Given the description of an element on the screen output the (x, y) to click on. 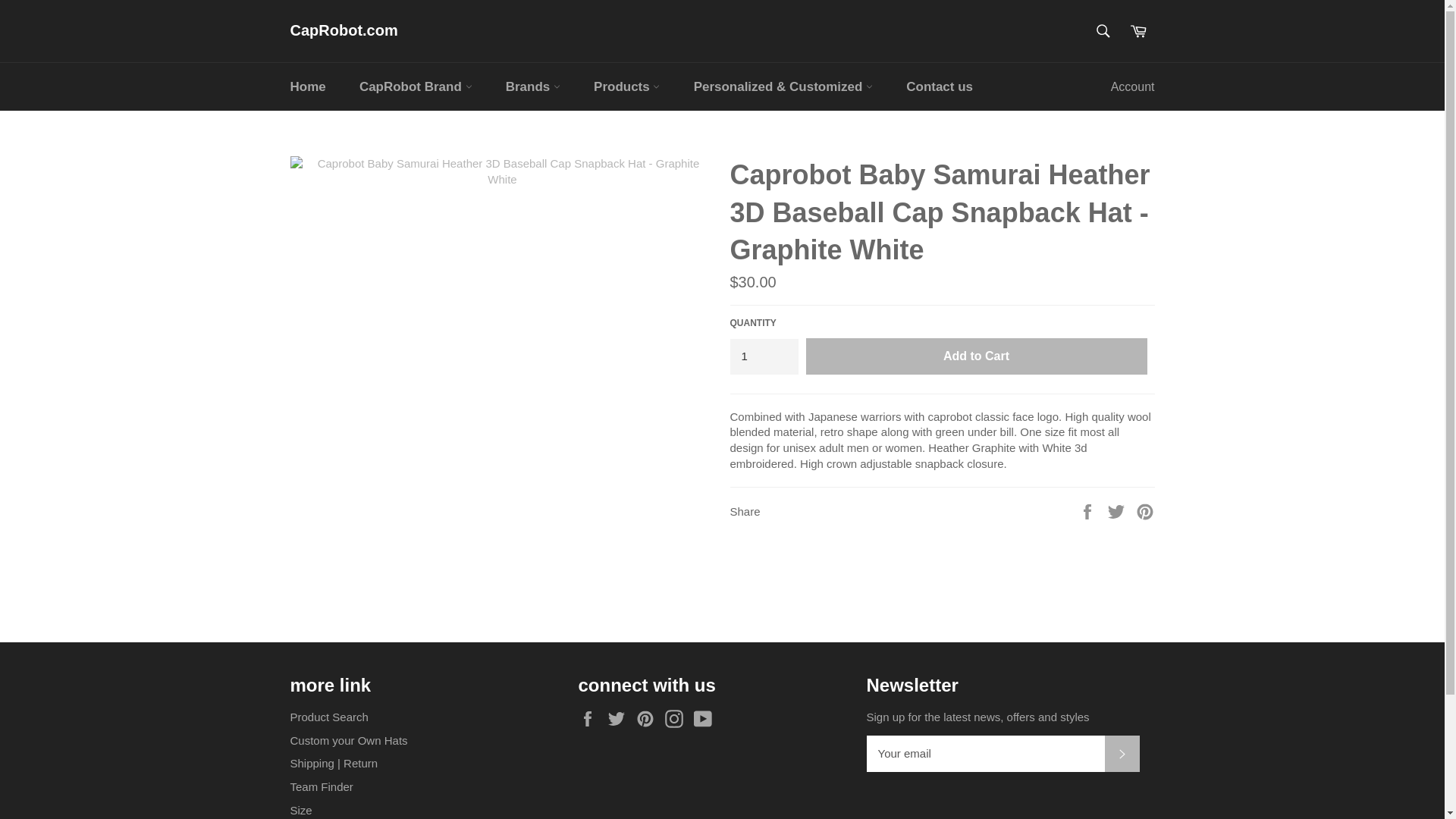
Tweet on Twitter (1117, 510)
Pin on Pinterest (1144, 510)
CapRobot.com on Facebook (591, 719)
Share on Facebook (1088, 510)
1 (763, 356)
CapRobot.com on Twitter (620, 719)
CapRobot.com on YouTube (706, 719)
CapRobot.com on Instagram (677, 719)
CapRobot.com on Pinterest (649, 719)
